Given the description of an element on the screen output the (x, y) to click on. 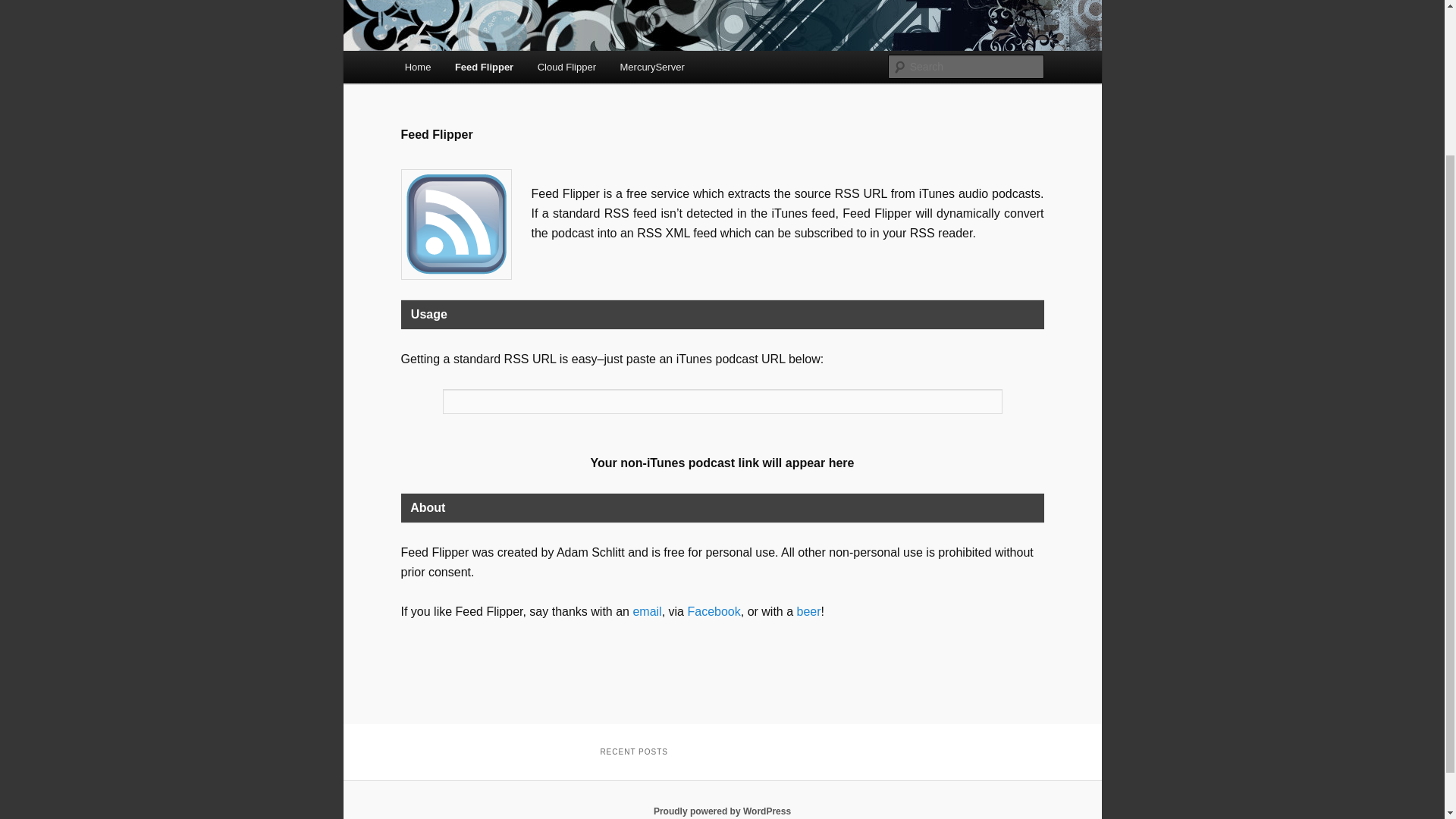
Semantic Personal Publishing Platform (721, 810)
beer (808, 611)
Feed Flipper (455, 224)
Home (417, 66)
Cloud Flipper (566, 66)
Facebook (713, 611)
Cloud Flipper (566, 66)
email (646, 611)
Proudly powered by WordPress (721, 810)
MercuryServer (652, 66)
MercuryServer (652, 66)
Feed Flipper (483, 66)
